Given the description of an element on the screen output the (x, y) to click on. 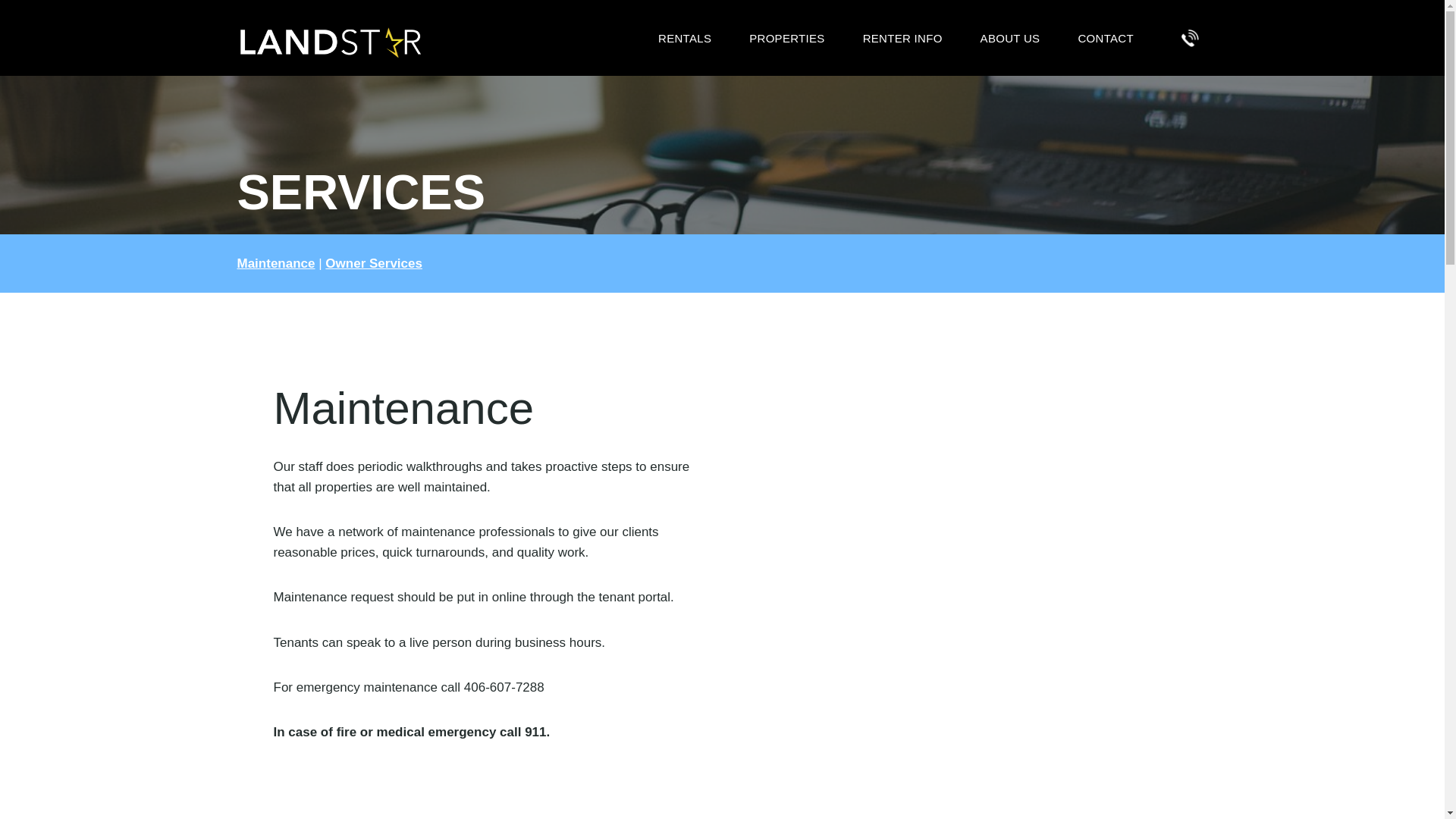
RENTER INFO (902, 37)
Owner Services (373, 263)
CONTACT (1104, 37)
ABOUT US (1009, 37)
Maintenance (274, 263)
RENTALS (684, 37)
PROPERTIES (786, 37)
